Given the description of an element on the screen output the (x, y) to click on. 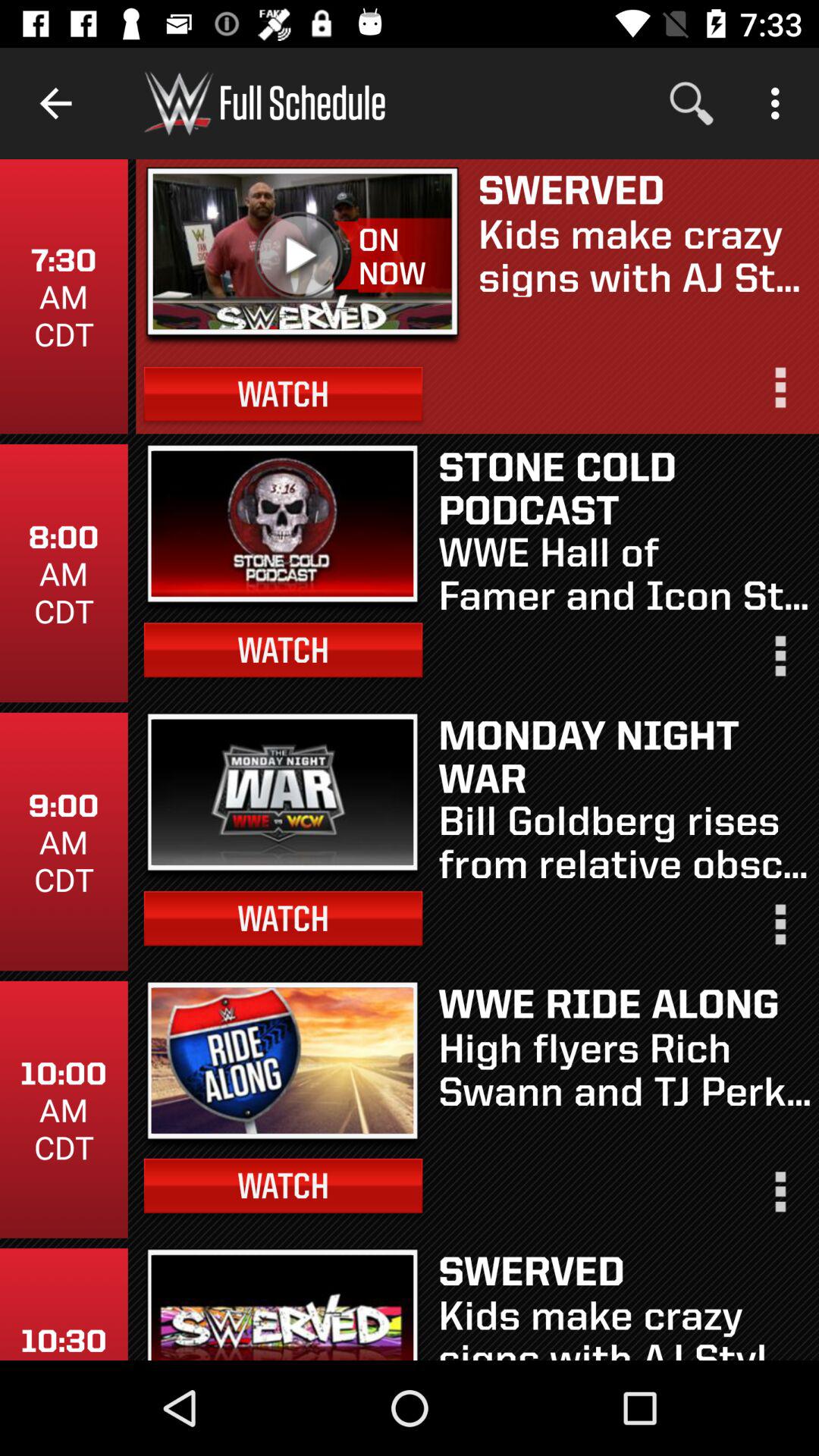
view video options (779, 393)
